Given the description of an element on the screen output the (x, y) to click on. 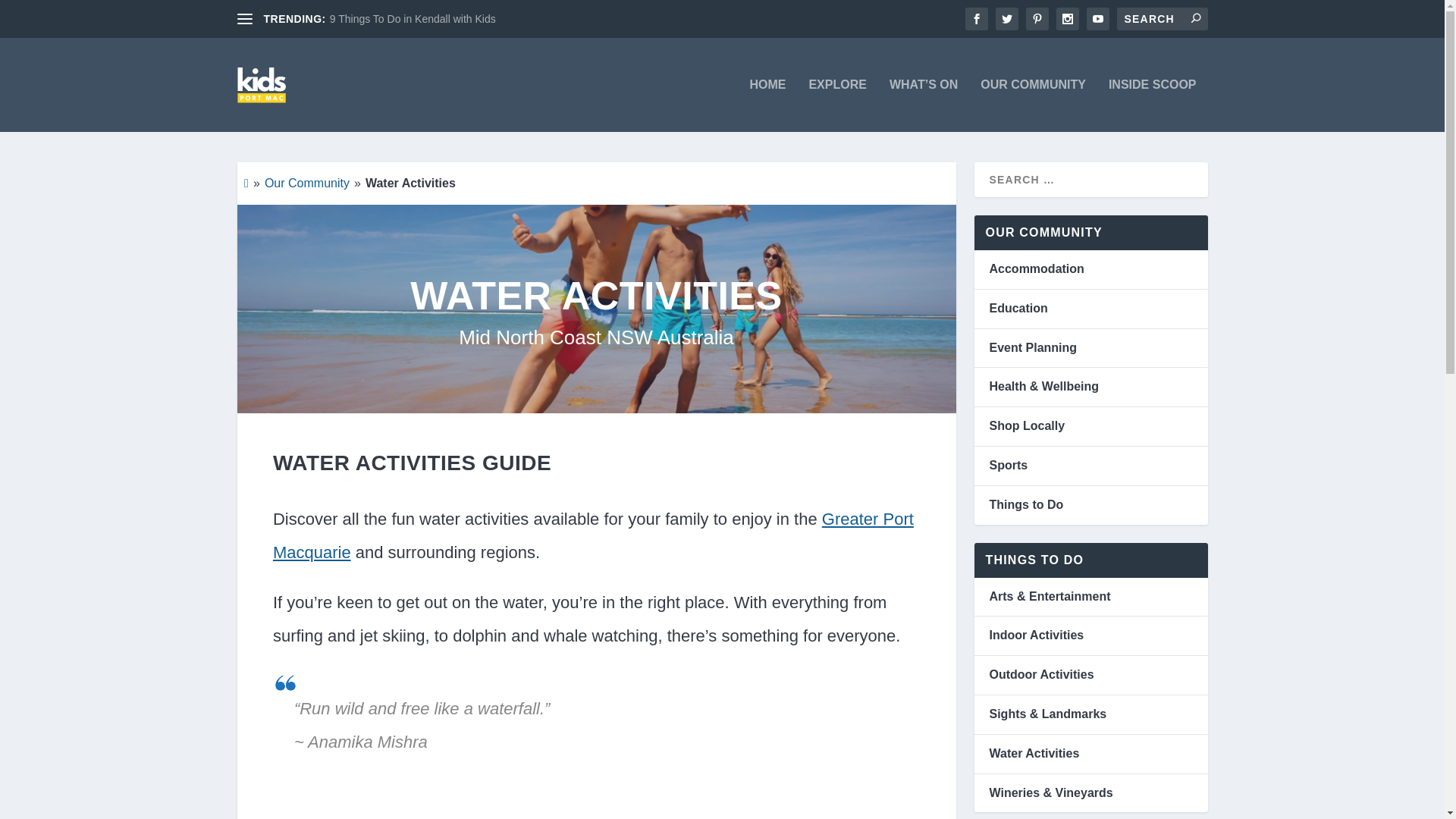
Sights & Landmarks Element type: text (1047, 713)
HOME Element type: text (767, 104)
Indoor Activities Element type: text (1035, 634)
9 Things To Do in Kendall with Kids Element type: text (412, 18)
EXPLORE Element type: text (837, 104)
Sports Element type: text (1007, 464)
Education Element type: text (1017, 307)
OUR COMMUNITY Element type: text (1032, 104)
Event Planning Element type: text (1032, 347)
Arts & Entertainment Element type: text (1049, 595)
Wineries & Vineyards Element type: text (1050, 792)
Greater Port Macquarie Element type: text (593, 535)
Shop Locally Element type: text (1026, 425)
Search Element type: text (37, 15)
Accommodation Element type: text (1035, 268)
Things to Do Element type: text (1025, 504)
INSIDE SCOOP Element type: text (1152, 104)
Health & Wellbeing Element type: text (1043, 385)
Search for: Element type: hover (1161, 18)
Our Community Element type: text (306, 182)
Outdoor Activities Element type: text (1040, 674)
Water Activities Element type: text (1033, 752)
